Given the description of an element on the screen output the (x, y) to click on. 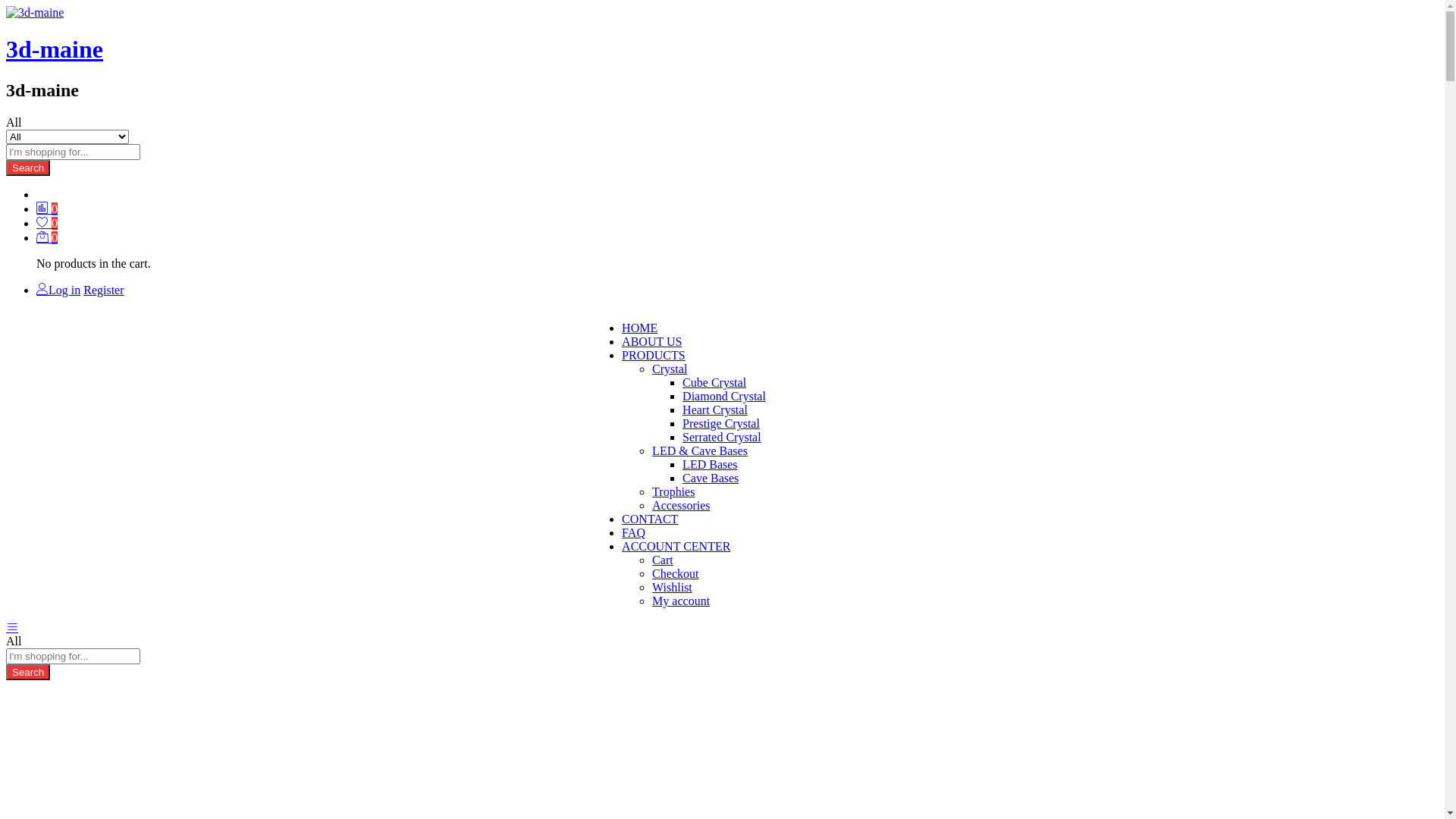
LED & Cave Bases Element type: text (699, 450)
Cube Crystal Element type: text (714, 382)
Trophies Element type: text (673, 491)
Search Element type: text (28, 672)
CONTACT Element type: text (649, 518)
Checkout Element type: text (675, 573)
Accessories Element type: text (680, 504)
ACCOUNT CENTER Element type: text (675, 545)
PRODUCTS Element type: text (653, 354)
Wishlist Element type: text (672, 586)
0 Element type: text (46, 237)
0 Element type: text (46, 222)
HOME Element type: text (639, 327)
Diamond Crystal Element type: text (723, 395)
Log in Element type: text (58, 289)
Crystal Element type: text (669, 368)
Heart Crystal Element type: text (714, 409)
Prestige Crystal Element type: text (720, 423)
Register Element type: text (103, 289)
Cart Element type: text (662, 559)
3d-maine Element type: text (54, 48)
LED Bases Element type: text (709, 464)
ABOUT US Element type: text (651, 341)
FAQ Element type: text (633, 532)
My account Element type: text (680, 600)
Serrated Crystal Element type: text (721, 436)
Search Element type: text (28, 167)
Cave Bases Element type: text (710, 477)
0 Element type: text (46, 208)
